Given the description of an element on the screen output the (x, y) to click on. 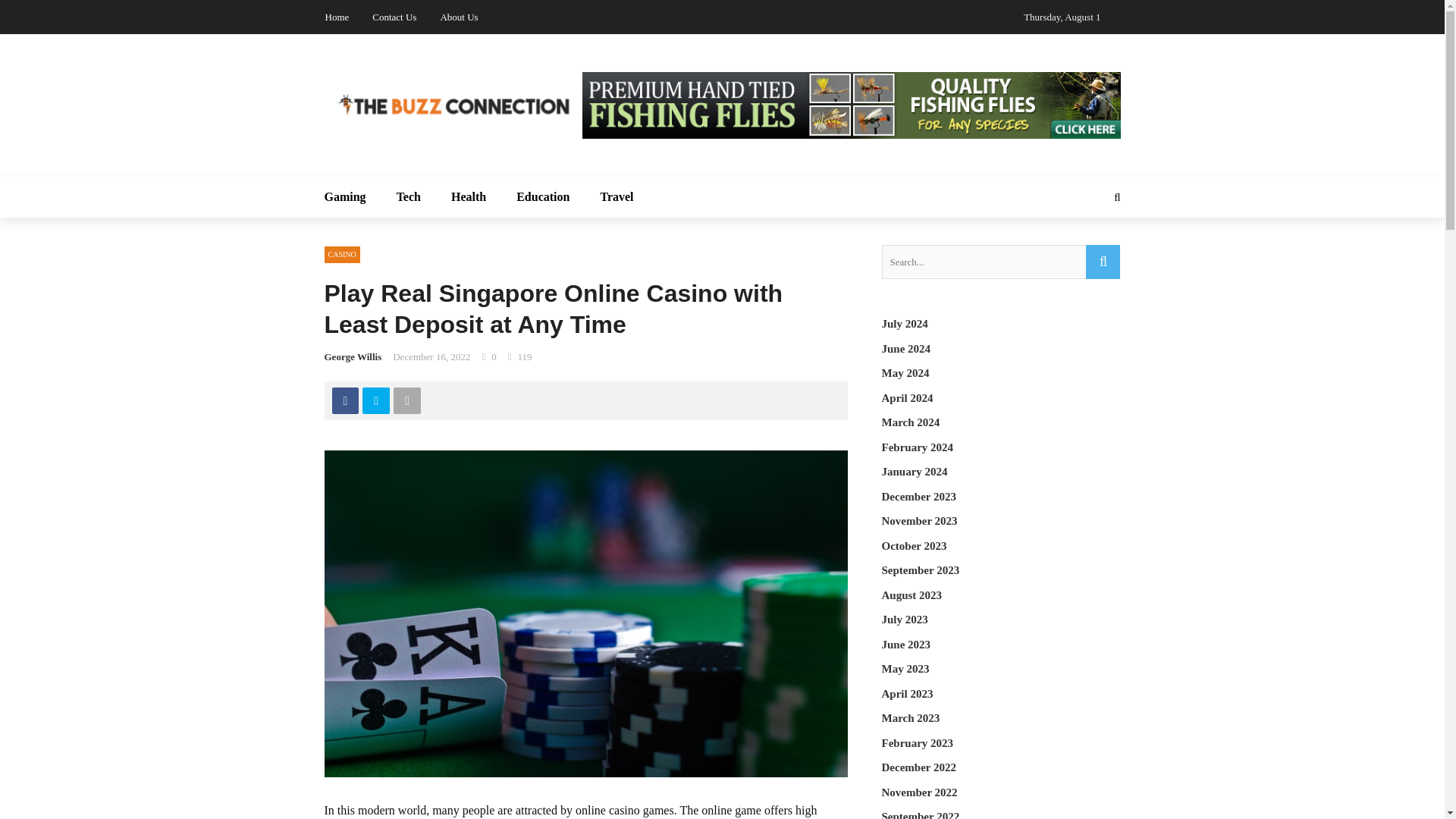
Education (542, 196)
About Us (458, 16)
Tech (408, 196)
CASINO (341, 254)
George Willis (352, 356)
Gaming (352, 196)
Contact Us (394, 16)
Health (467, 196)
Travel (609, 196)
Home (336, 16)
